Given the description of an element on the screen output the (x, y) to click on. 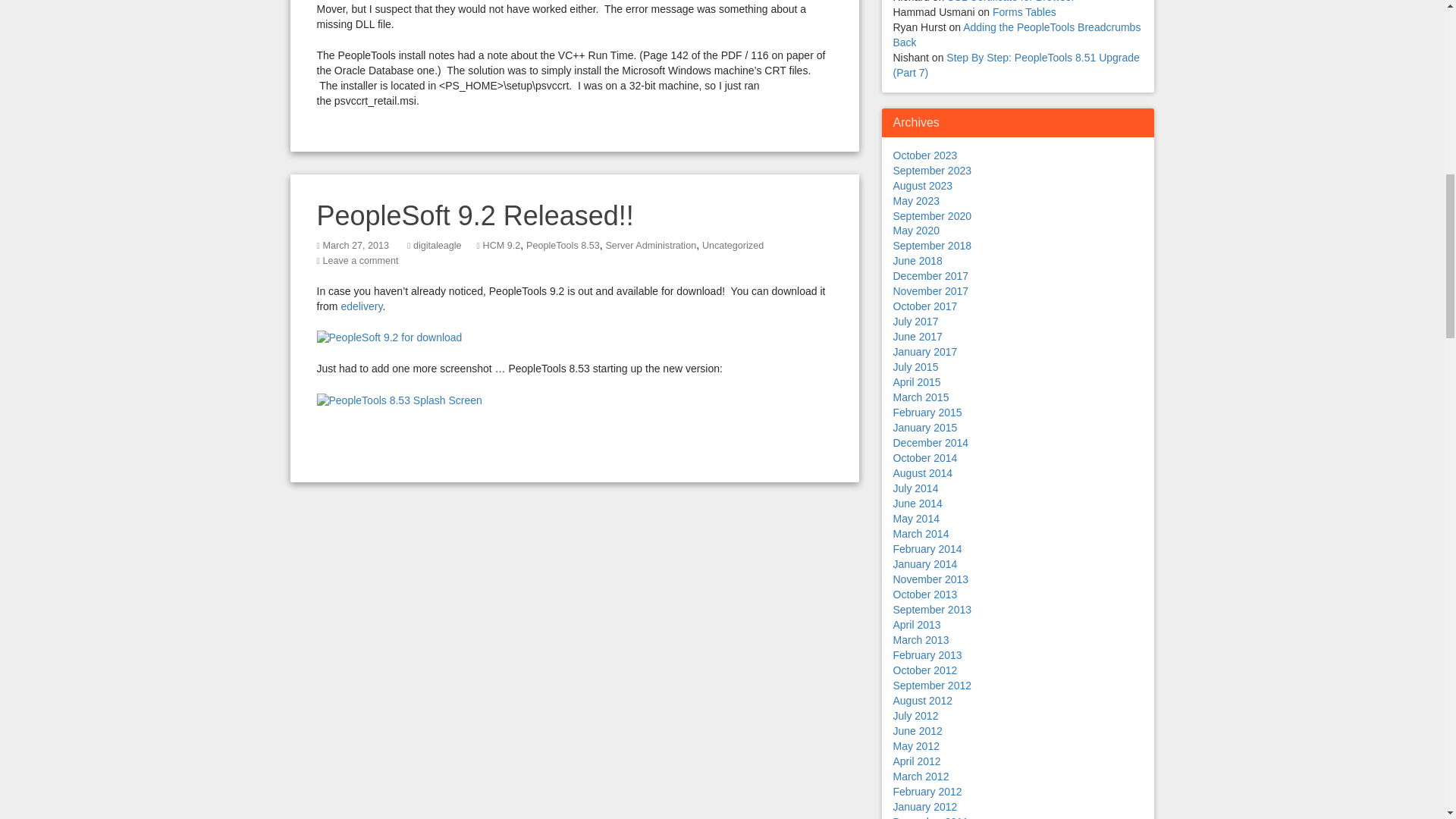
Server Administration (650, 245)
Uncategorized (731, 245)
Leave a comment (359, 260)
March 27, 2013 (354, 245)
edelivery (360, 306)
digitaleagle (437, 245)
PeopleTools 8.53 (562, 245)
PeopleSoft 9.2 Released!! (475, 214)
HCM 9.2 (502, 245)
